Given the description of an element on the screen output the (x, y) to click on. 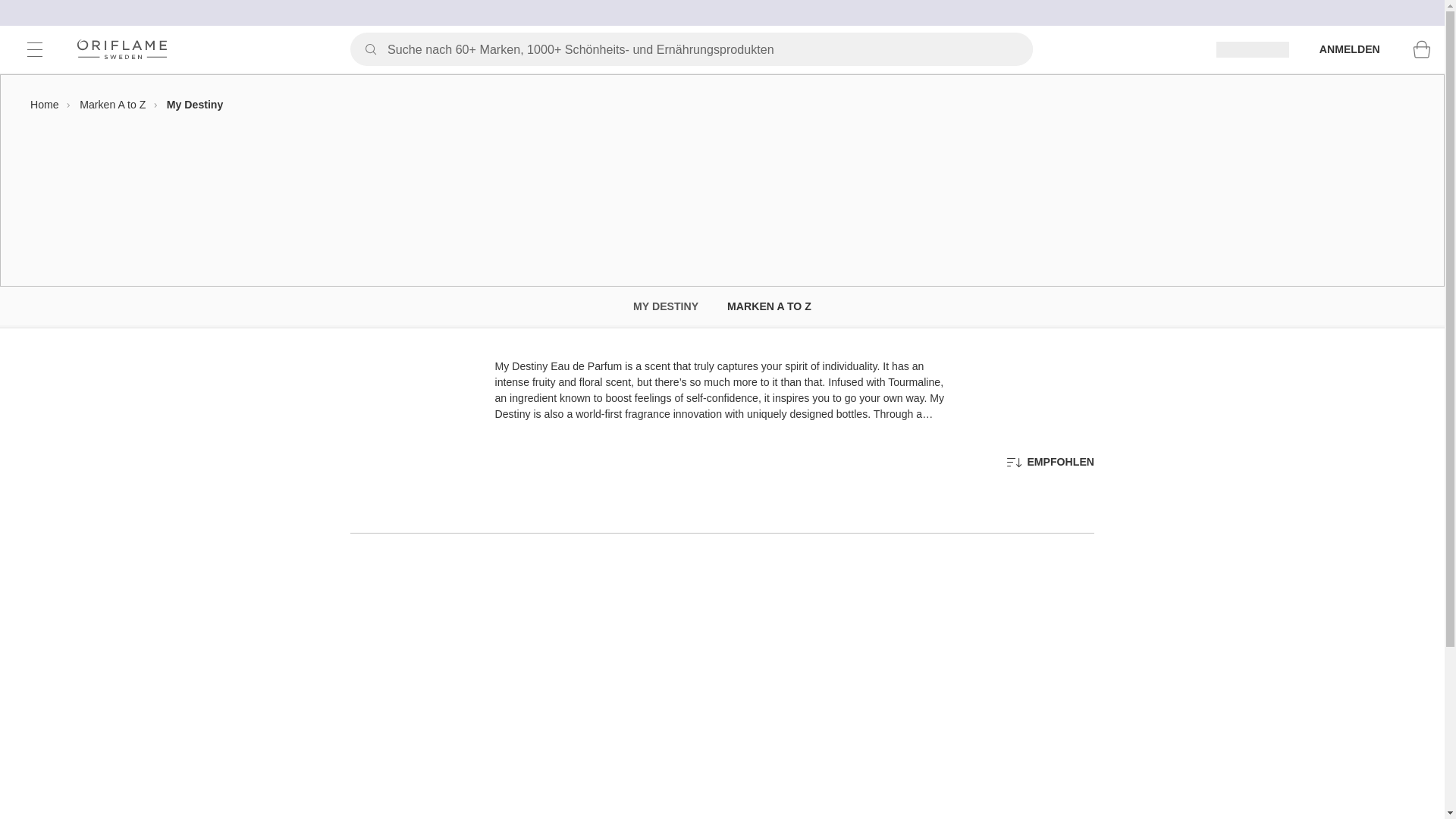
MARKEN A TO Z (768, 306)
My Destiny (195, 104)
MY DESTINY (665, 306)
Home (44, 104)
ANMELDEN (1349, 49)
Marken A to Z (112, 104)
